Given the description of an element on the screen output the (x, y) to click on. 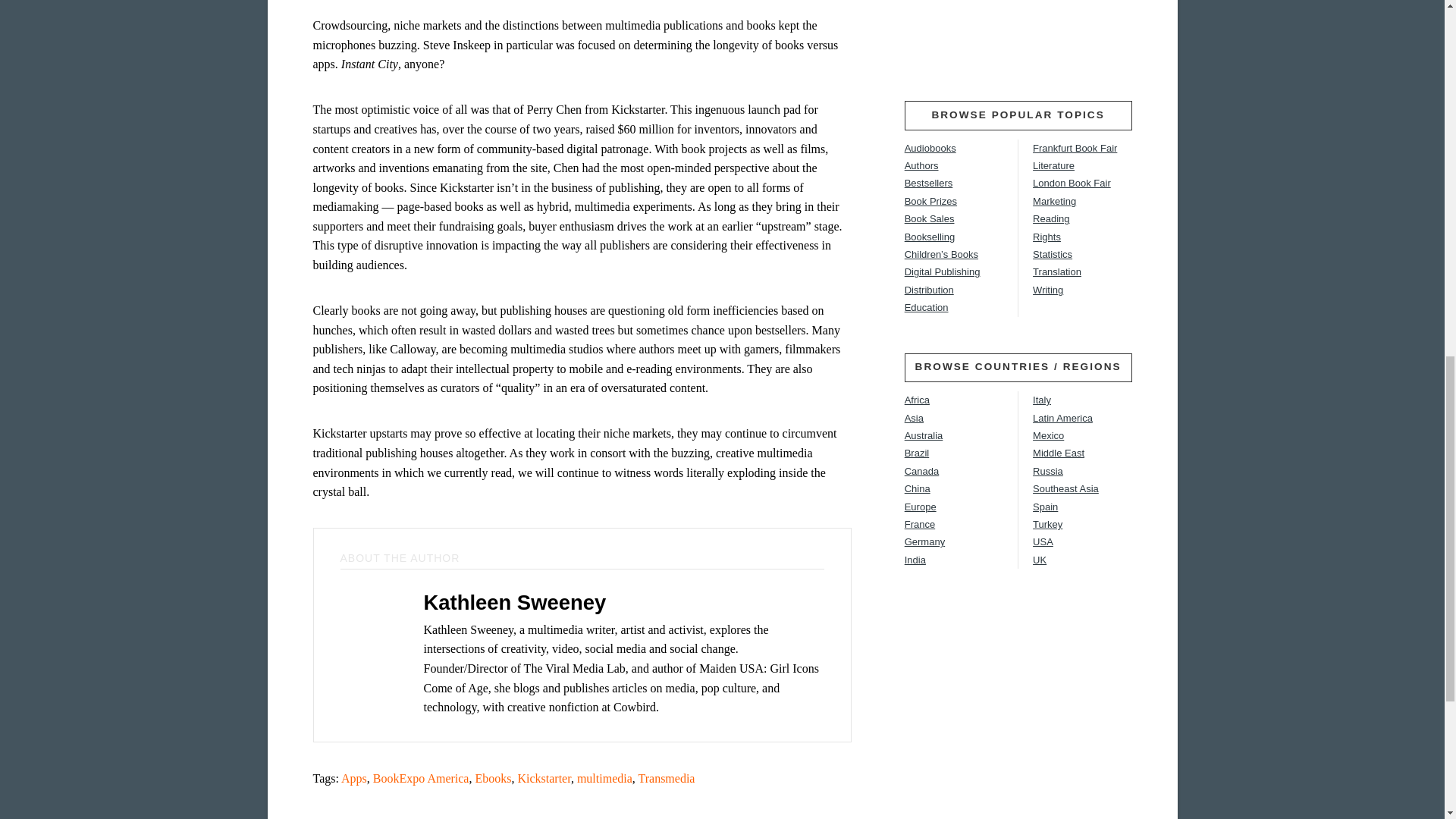
Transmedia (667, 778)
Kickstarter (543, 778)
multimedia (603, 778)
Apps (353, 778)
BookExpo America (420, 778)
Ebooks (492, 778)
